Given the description of an element on the screen output the (x, y) to click on. 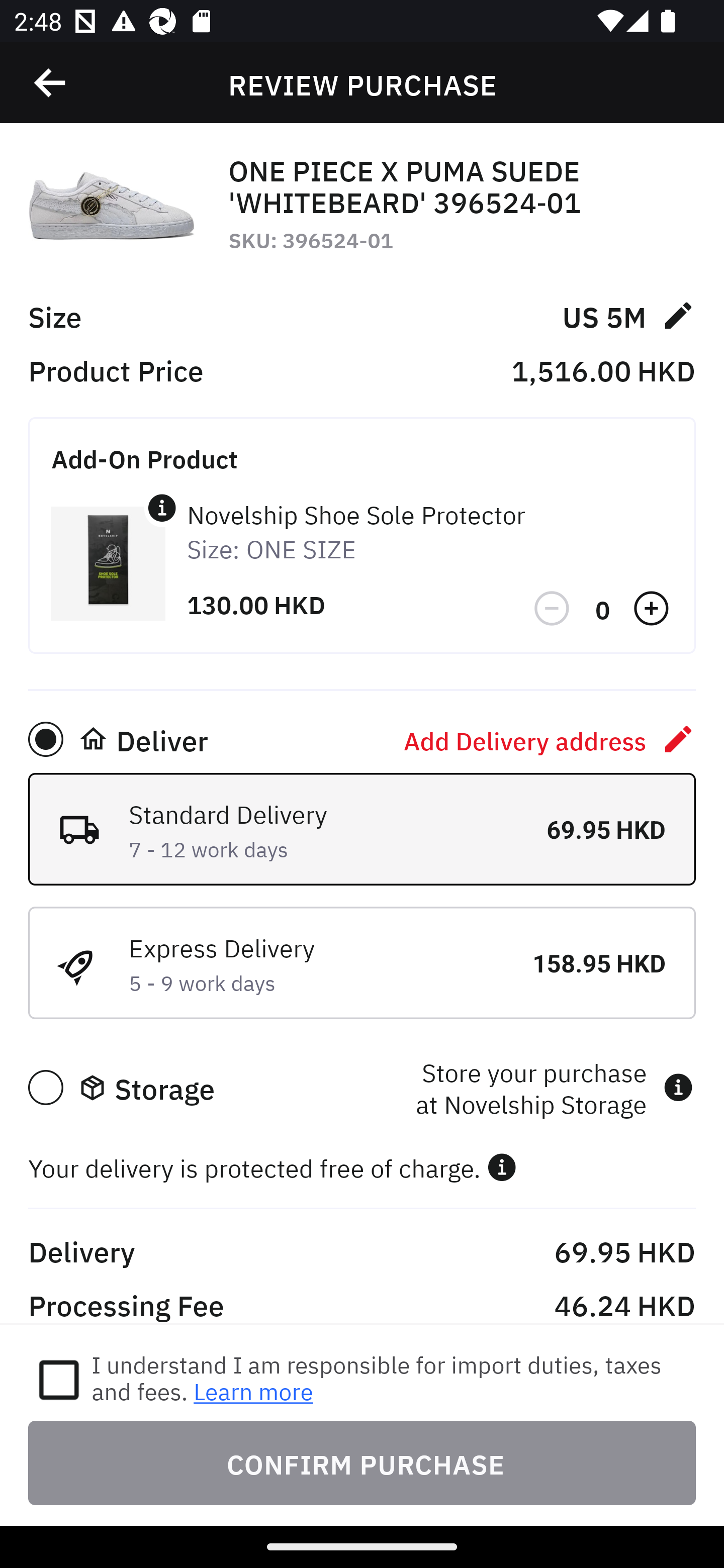
 (50, 83)
US 5M 󰏫 (628, 314)
 (162, 507)
 (553, 608)
 (652, 608)
󰚡 Deliver Add Delivery address 󰏫 (361, 739)
Add Delivery address 󰏫 (549, 739)
󱊝 Standard Delivery 7 - 12 work days 69.95 HKD (361, 829)
󱎯 Express Delivery 5 - 9 work days 158.95 HKD (361, 962)
Store your purchase
at Novelship Storage  (554, 1086)
 (501, 1166)
 CONFIRM PURCHASE (361, 1462)
